Given the description of an element on the screen output the (x, y) to click on. 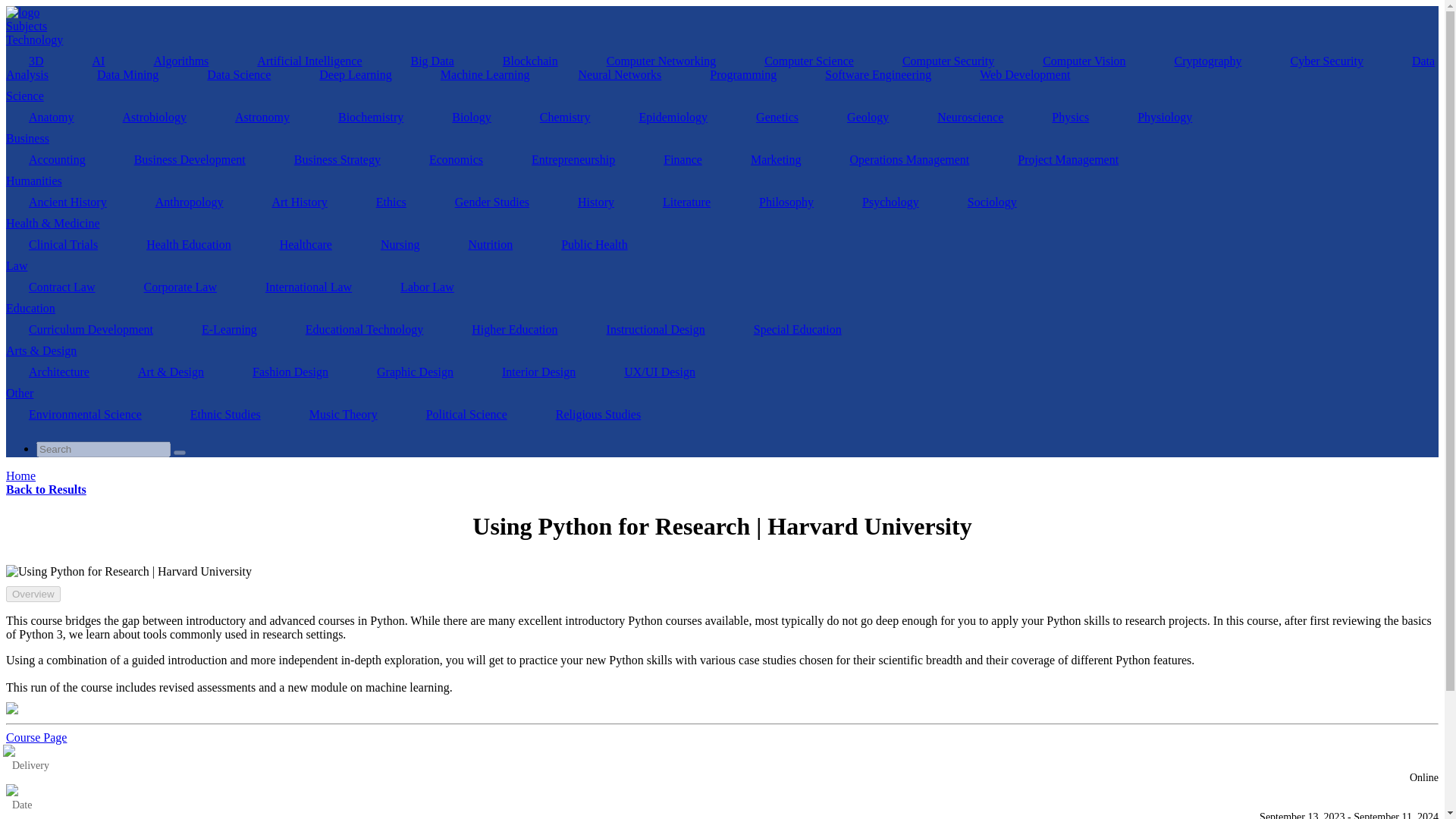
Machine Learning (485, 74)
Computer Networking (660, 60)
Physics (1070, 116)
Biochemistry (370, 116)
Computer Vision (1084, 60)
Business Development (189, 159)
Blockchain (530, 60)
Neuroscience (970, 116)
Big Data (432, 60)
AI (98, 60)
Astrobiology (154, 116)
Software Engineering (877, 74)
Cryptography (1208, 60)
Artificial Intelligence (309, 60)
Computer Security (947, 60)
